Given the description of an element on the screen output the (x, y) to click on. 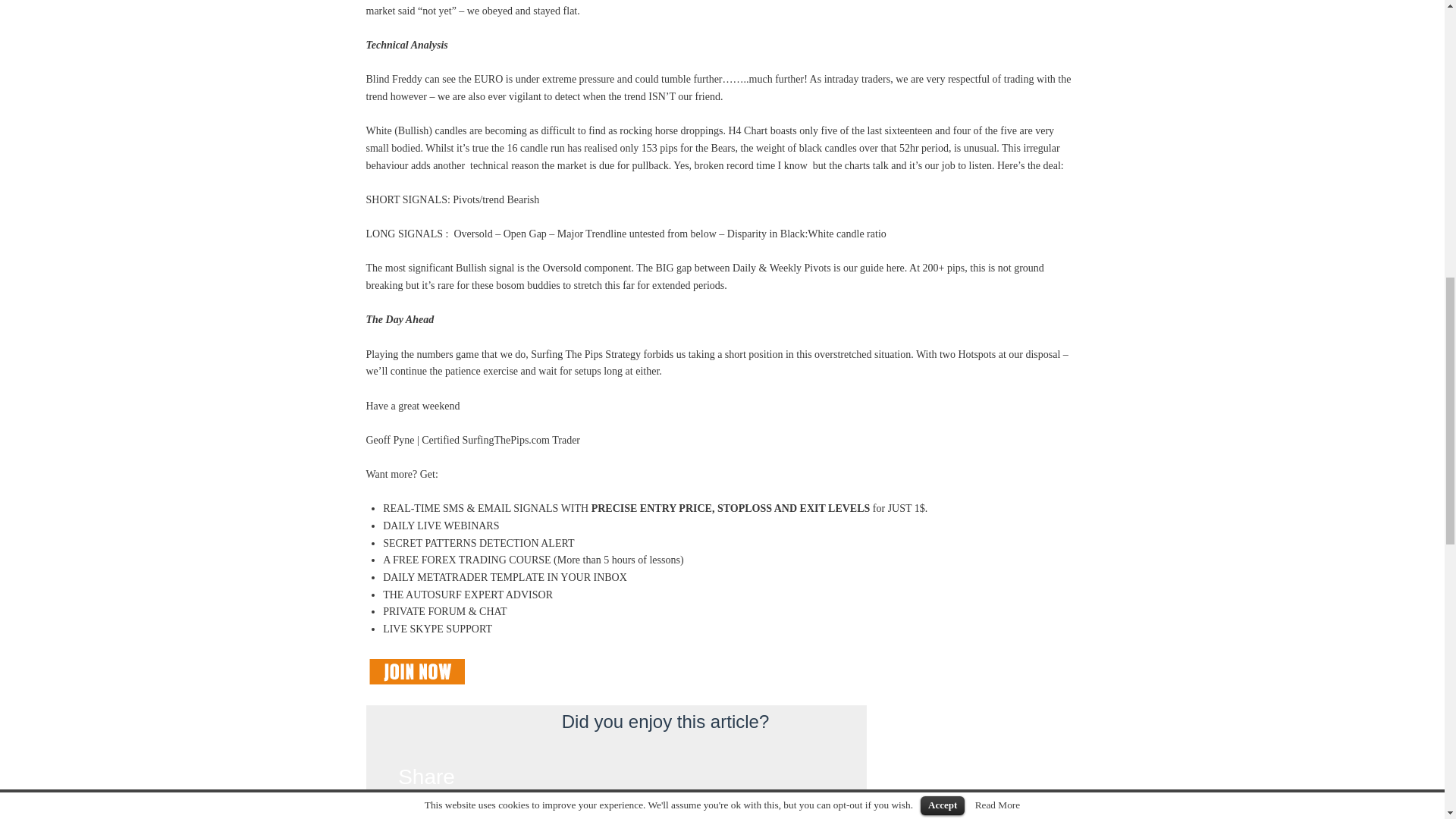
JOIN! (416, 671)
